Given the description of an element on the screen output the (x, y) to click on. 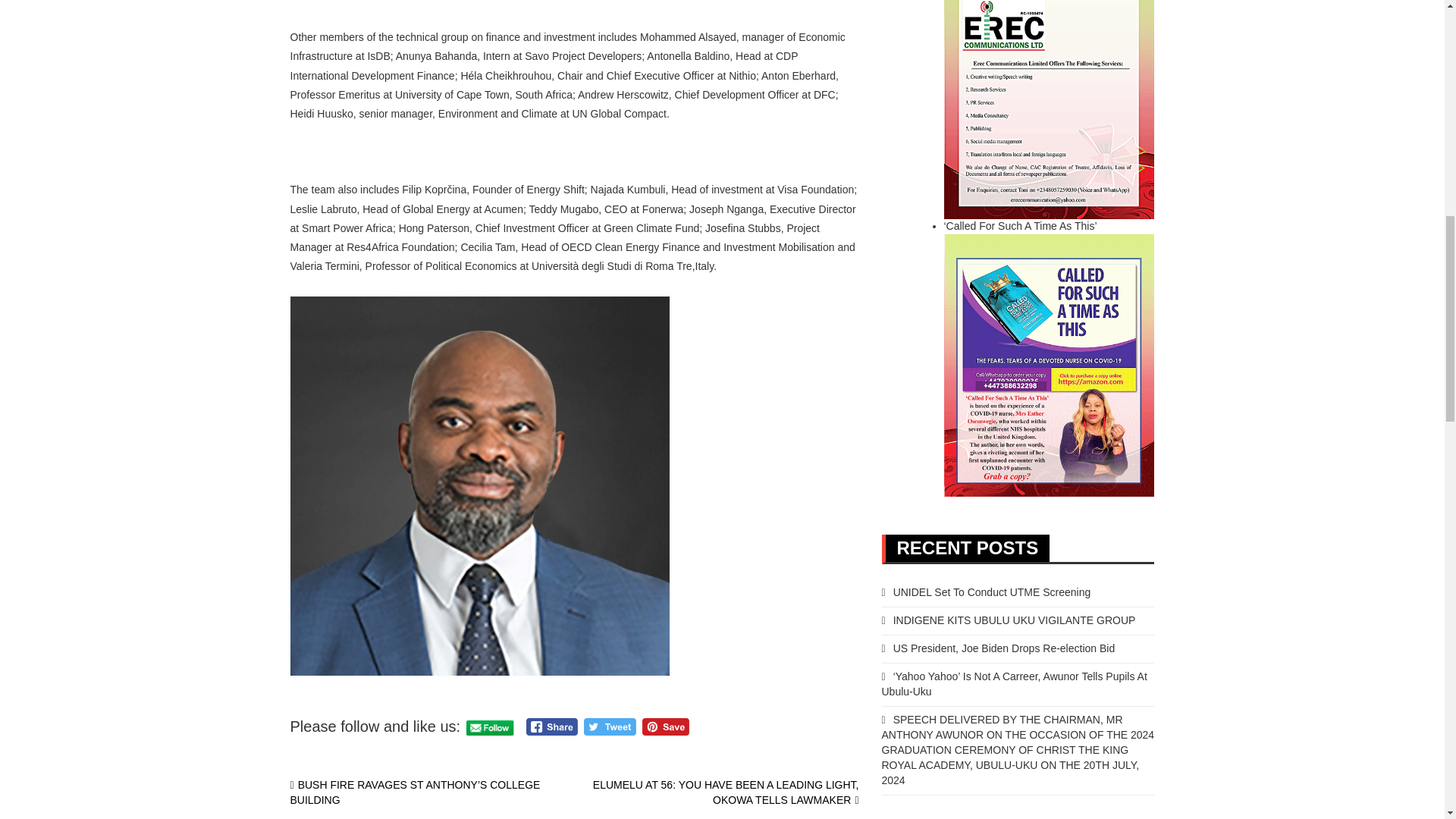
Pin Share (665, 726)
Facebook Share (551, 726)
Tweet (609, 726)
EREC Communications Limited (1048, 87)
